Given the description of an element on the screen output the (x, y) to click on. 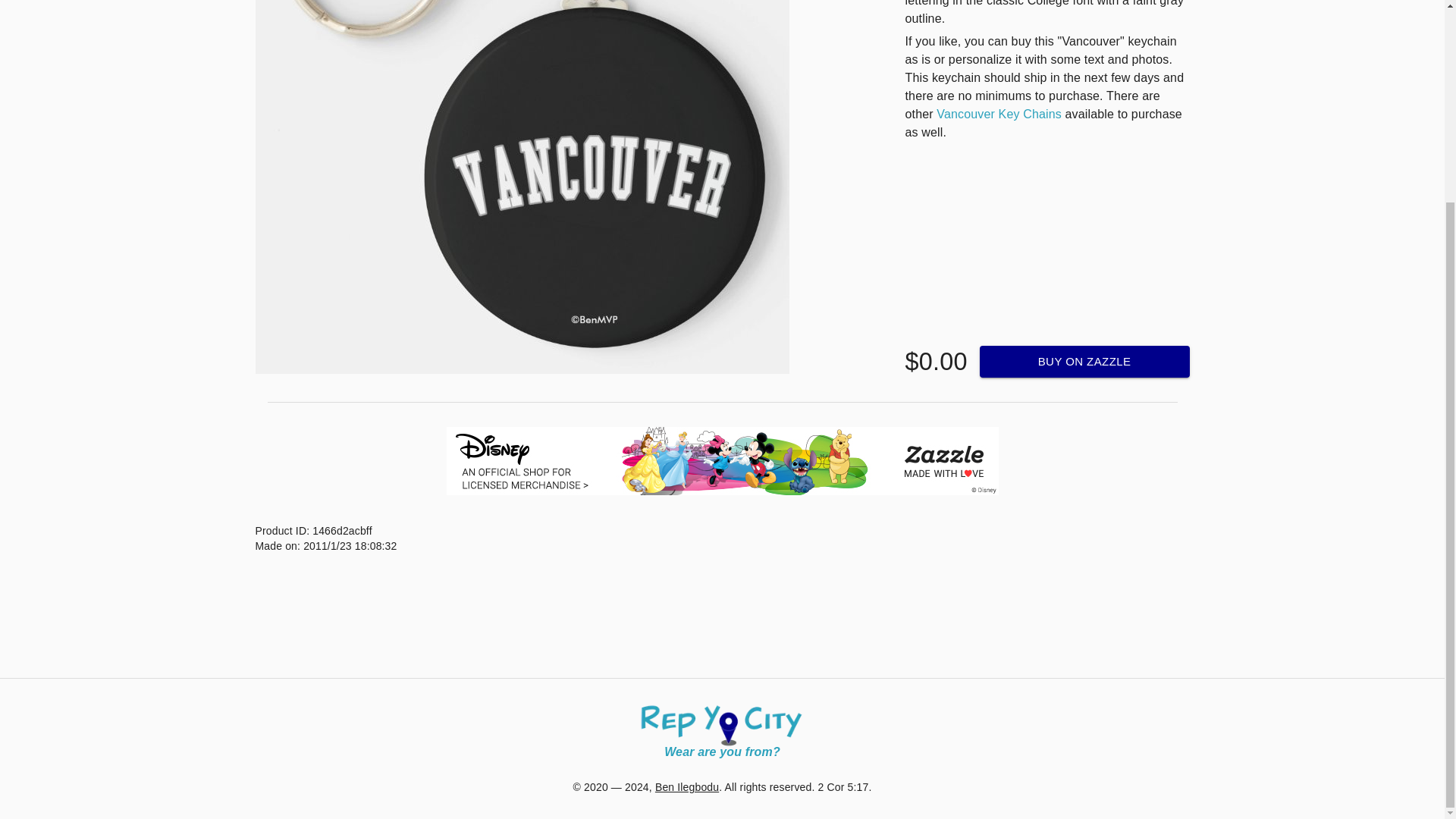
BUY ON ZAZZLE (1084, 361)
Advertisement (721, 635)
2 Cor 5:17 (843, 787)
Vancouver Key Chains (998, 113)
Ben Ilegbodu (687, 787)
